Given the description of an element on the screen output the (x, y) to click on. 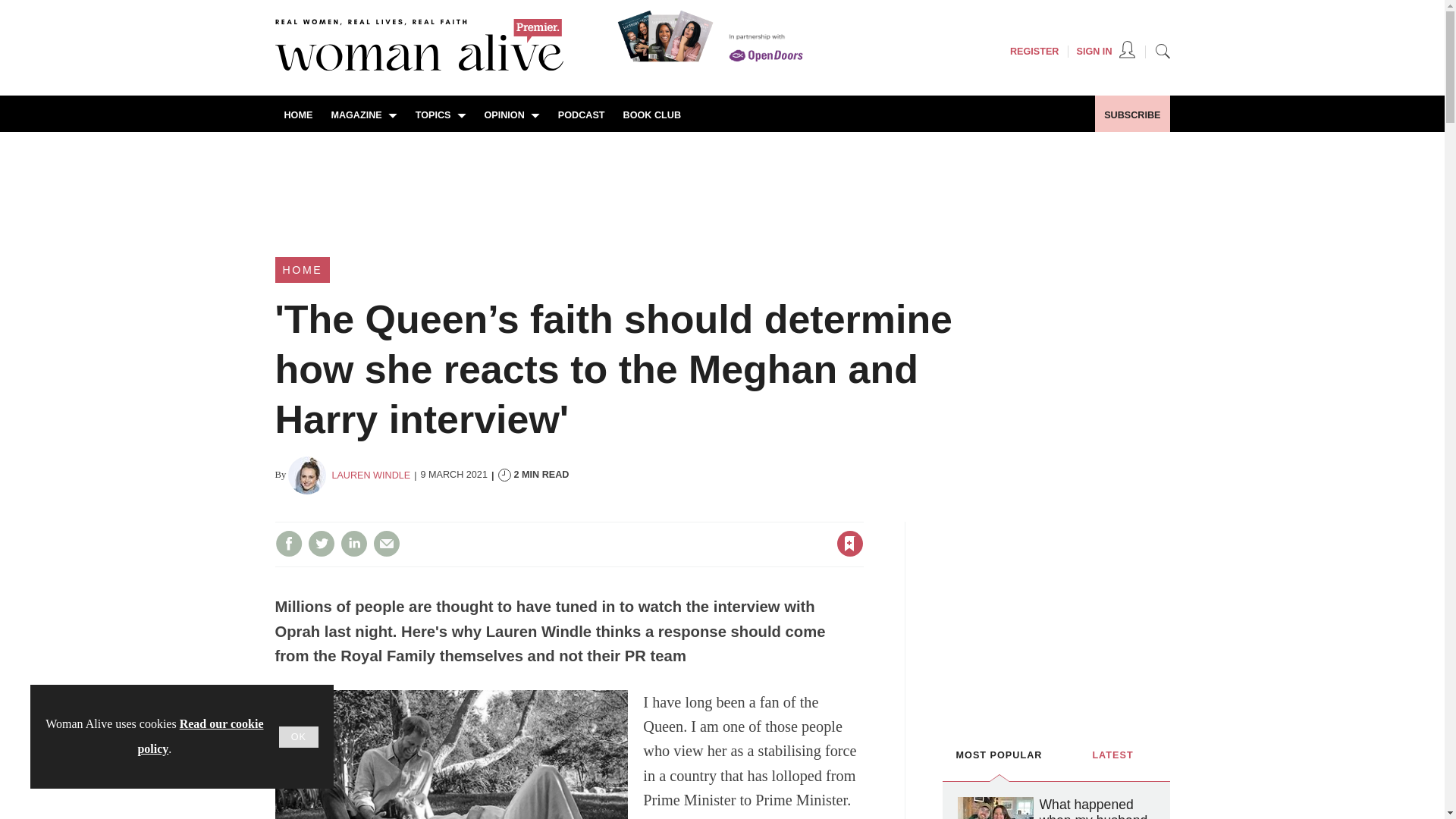
Share this on Linked in (352, 543)
Site name (418, 66)
3rd party ad content (721, 183)
SIGN IN (1106, 51)
OK (298, 736)
Share this on Twitter (320, 543)
Email this article (386, 543)
Share this on Facebook (288, 543)
SEARCH (1161, 50)
REGISTER (1034, 51)
